Given the description of an element on the screen output the (x, y) to click on. 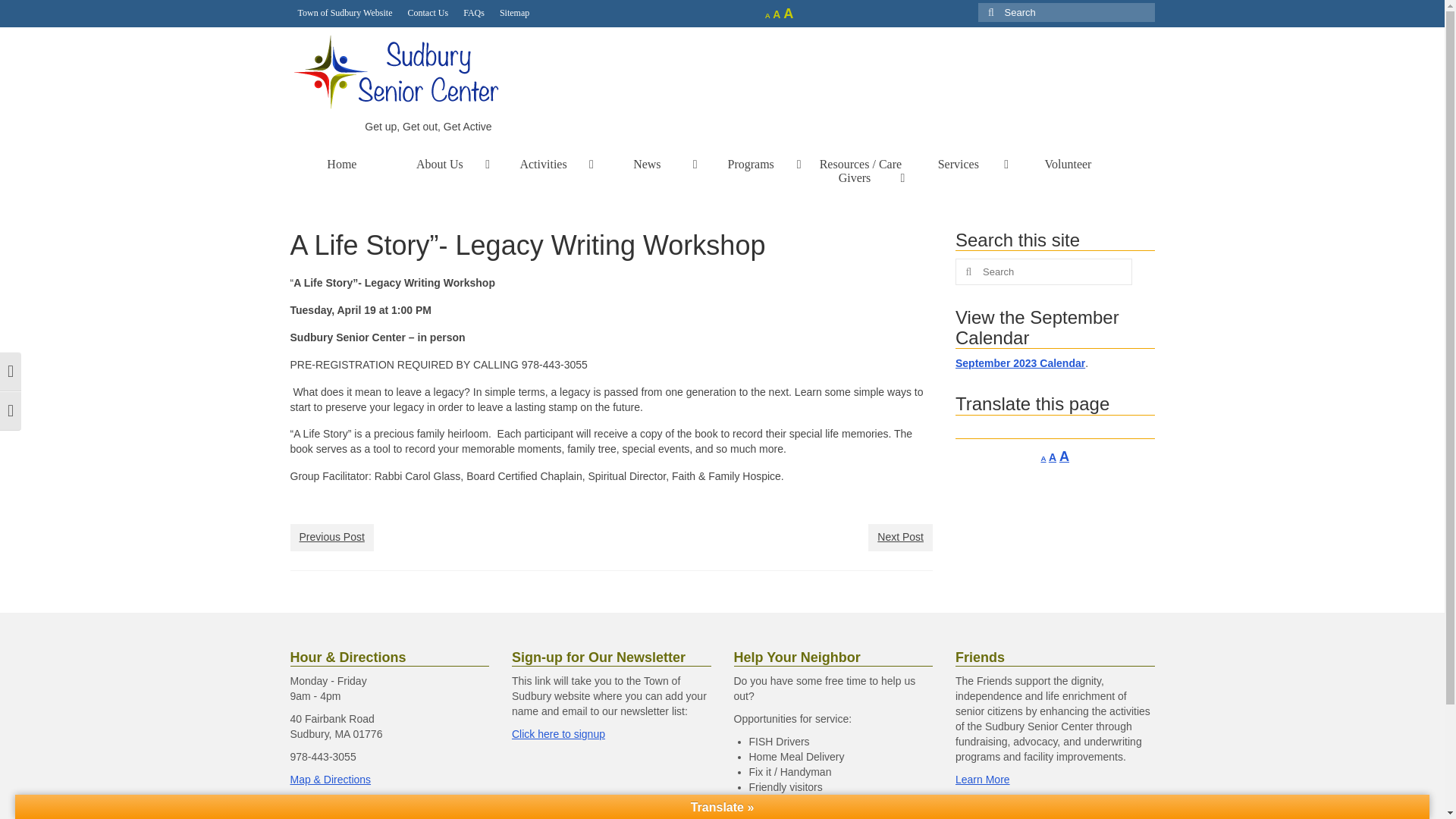
Sitemap (514, 12)
News (652, 164)
About Us (445, 164)
Home (341, 164)
FAQs (473, 12)
Activities (549, 164)
Contact Us (426, 12)
Programs (756, 164)
Town of Sudbury Website (343, 12)
